Given the description of an element on the screen output the (x, y) to click on. 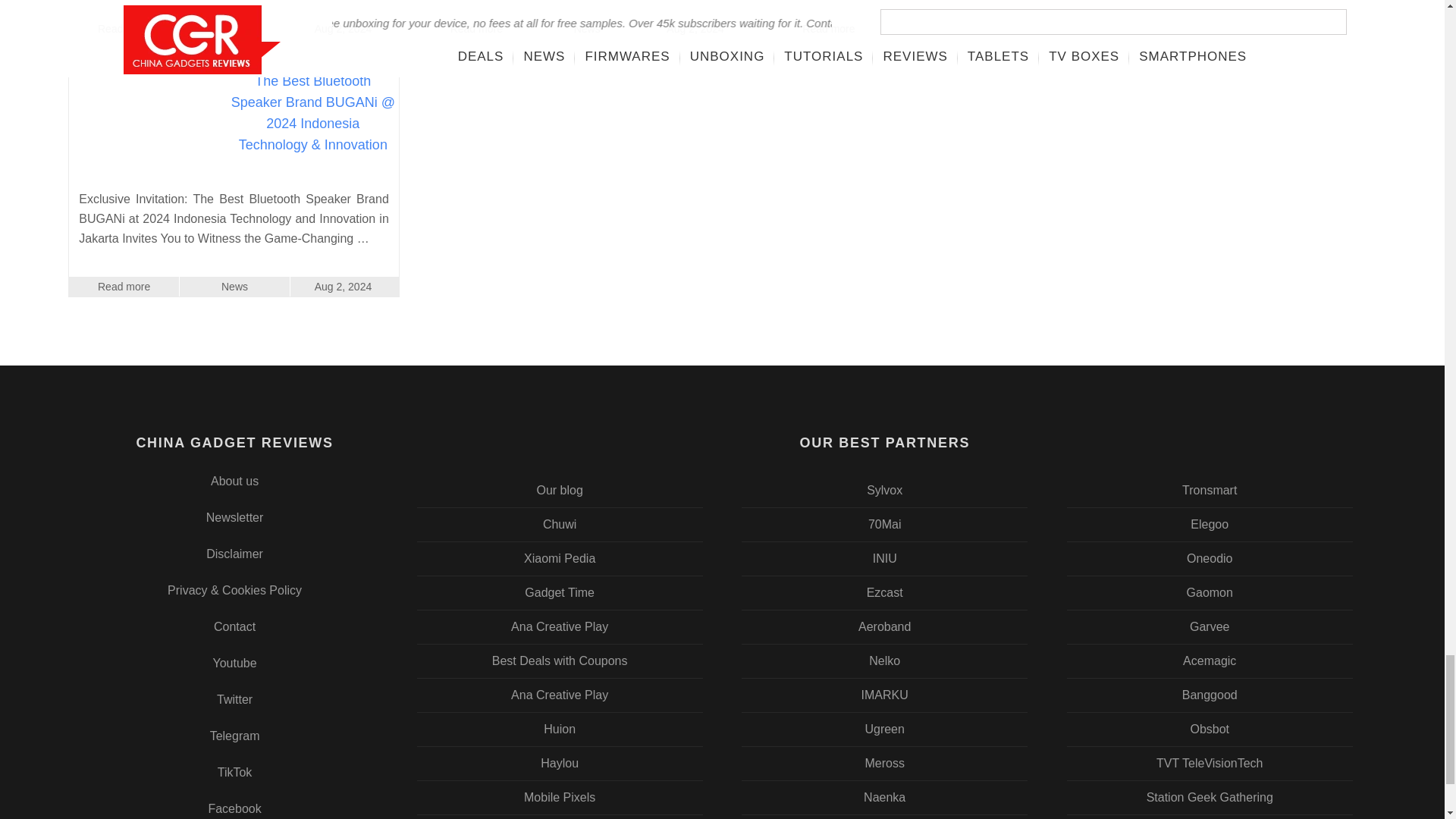
Chargers, USB Hubs, Docking Stations, and More (885, 729)
Best Deals with Coupons (559, 661)
Best outdoor TV, Bathroom TV, RV TV and kitchen TV for sale (885, 490)
Meross: Simple Device, Simplify Your Life (885, 763)
Haylou website (559, 763)
IMARKU Official website (885, 695)
anacreativeplay (559, 695)
Universal wireless screen mirroring solution (885, 593)
Huion Official Website (559, 729)
Nelko Official Website (885, 661)
